Given the description of an element on the screen output the (x, y) to click on. 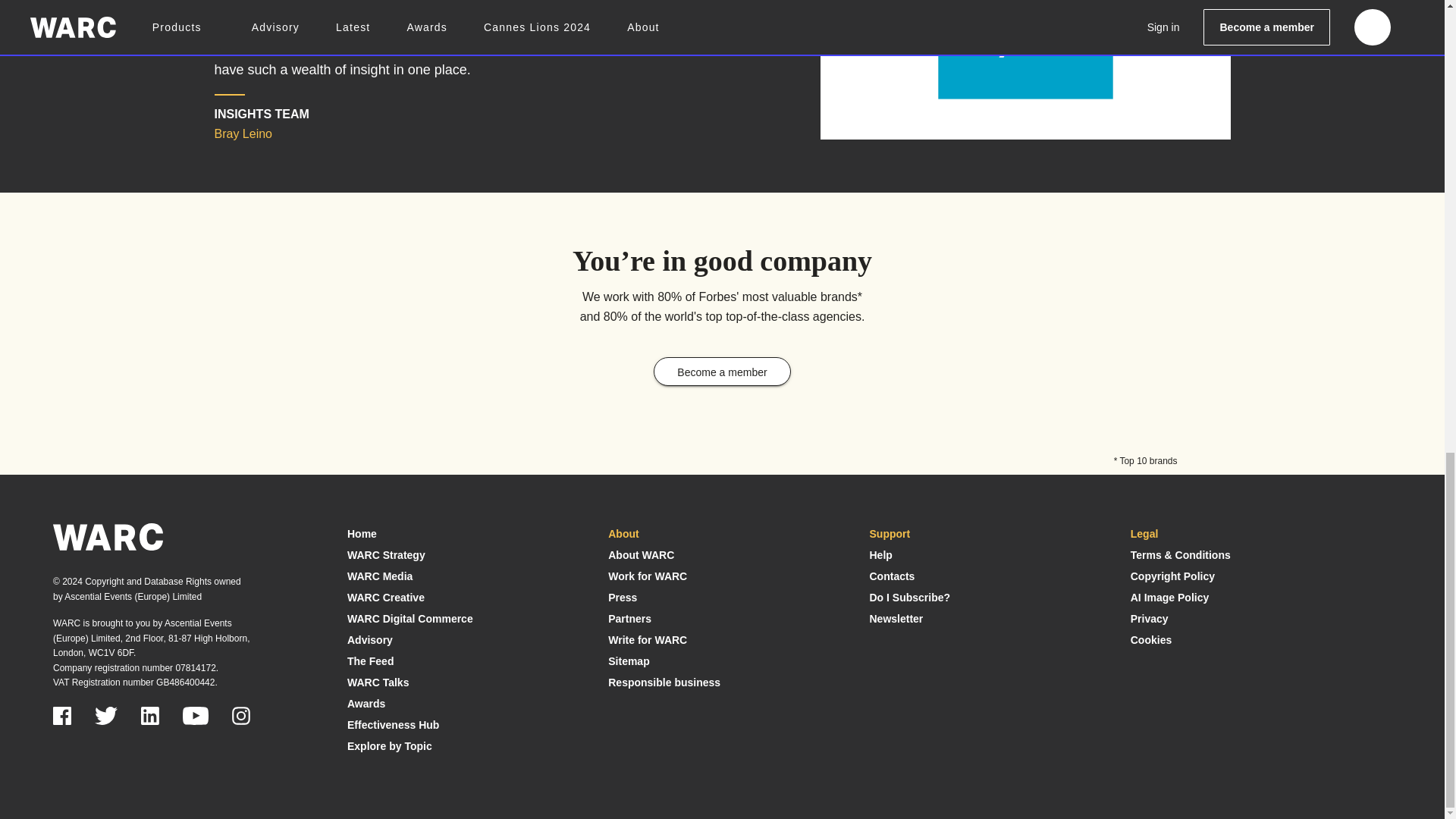
Bray Leino (1025, 55)
